Given the description of an element on the screen output the (x, y) to click on. 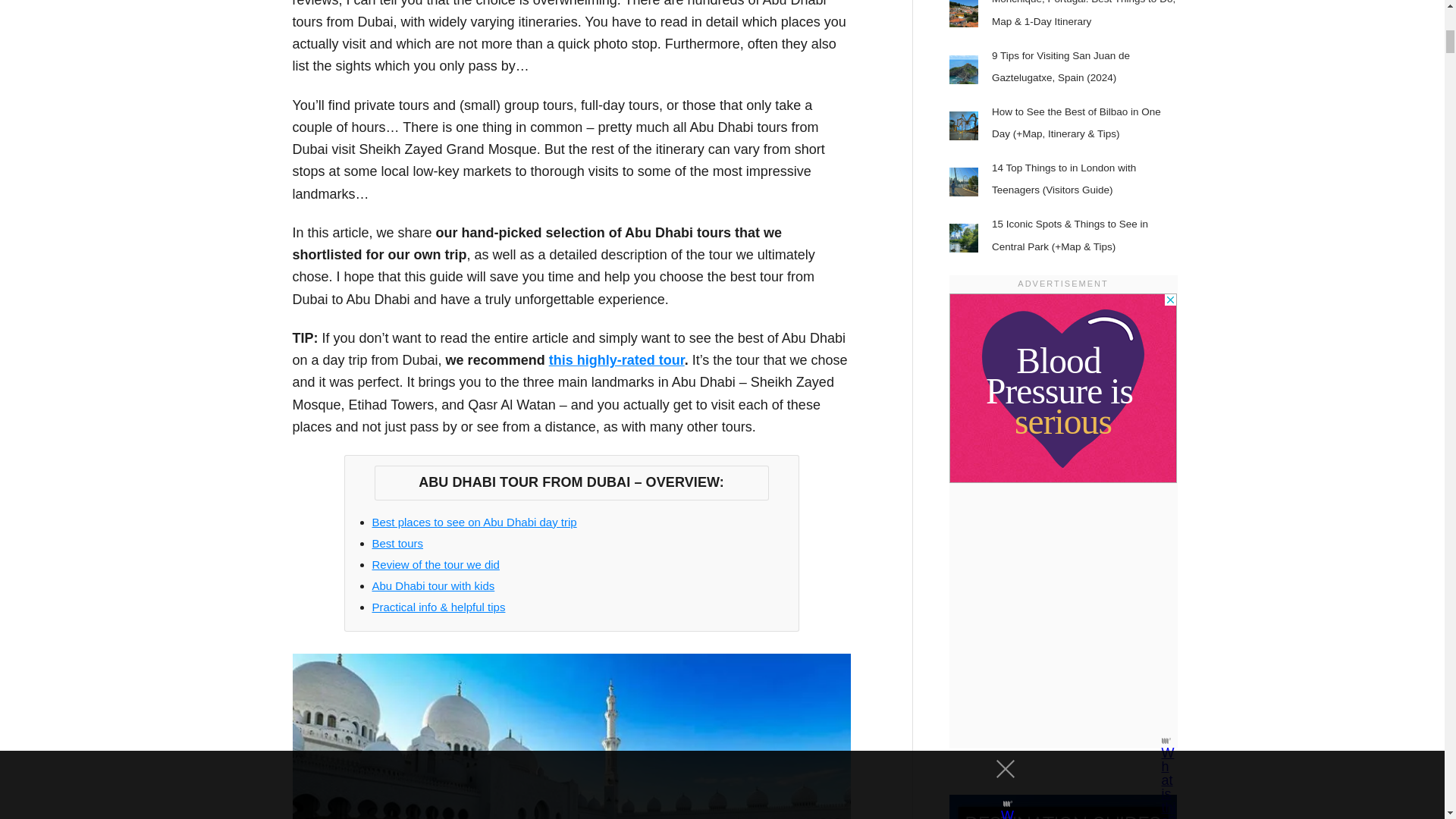
3rd party ad content (1062, 388)
